Given the description of an element on the screen output the (x, y) to click on. 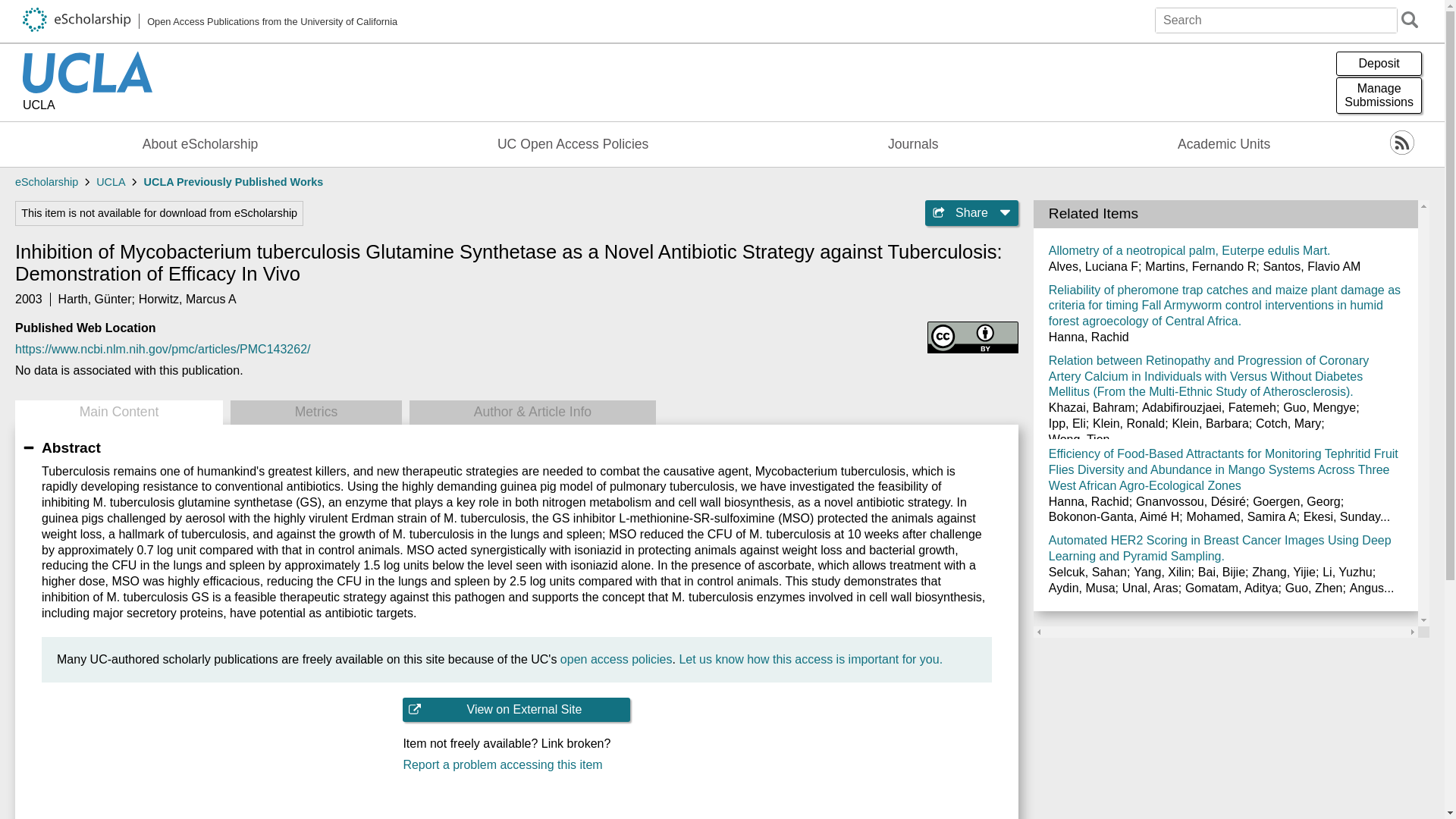
eScholarship (46, 182)
Journals (913, 143)
UCLA (87, 105)
View on External Site (516, 709)
Main Content (118, 412)
About eScholarship (200, 143)
open access policies (616, 658)
Report a problem accessing this item (516, 765)
Hanna, Rachid (1088, 336)
